Given the description of an element on the screen output the (x, y) to click on. 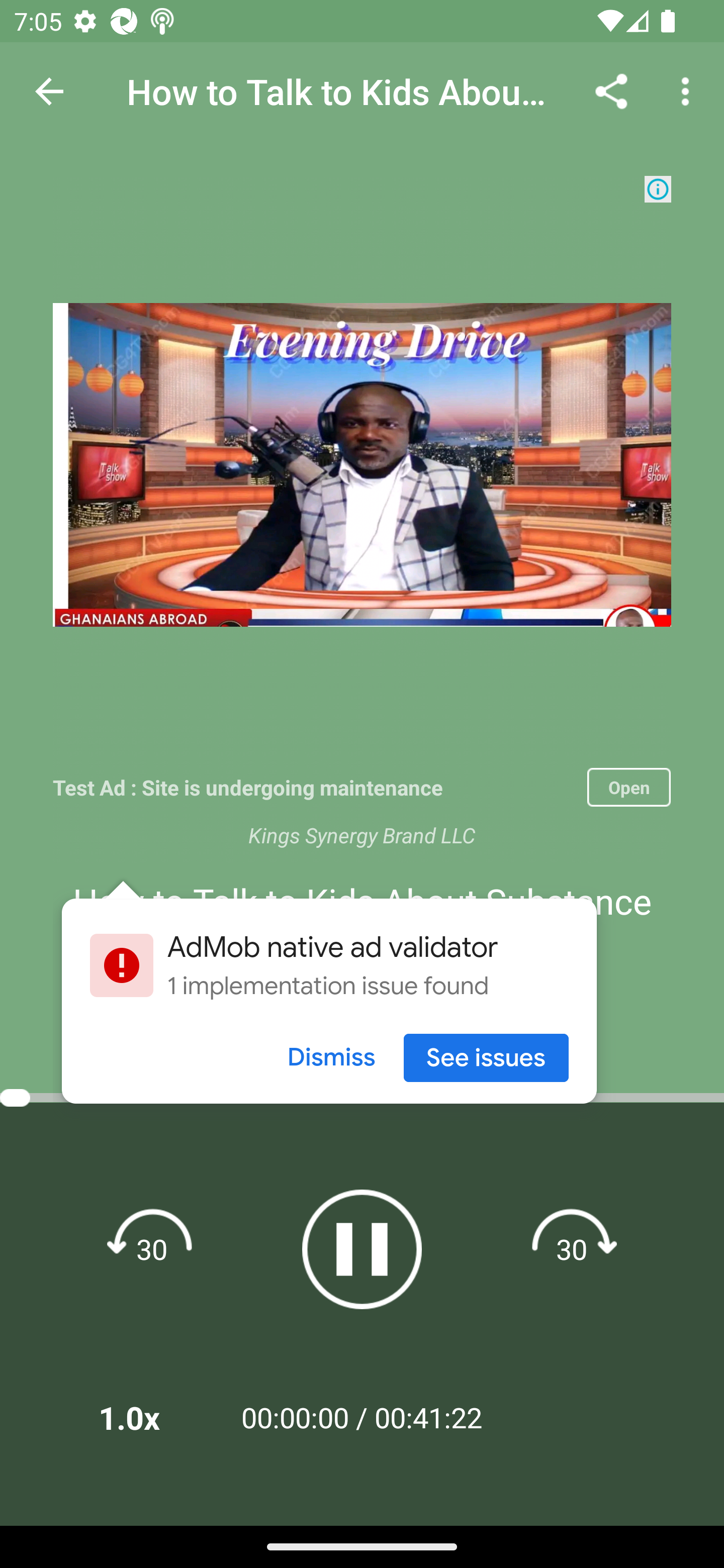
Navigate up (49, 91)
Share... (611, 90)
More options (688, 90)
Ad Choices Icon (657, 188)
Open (629, 786)
Test Ad : Site is undergoing maintenance (312, 787)
Kings Synergy Brand LLC (361, 834)
Pause (361, 1249)
Rewind (151, 1248)
Fast forward (571, 1248)
1.0x Playback Speeds (154, 1417)
00:41:22 (428, 1417)
